Given the description of an element on the screen output the (x, y) to click on. 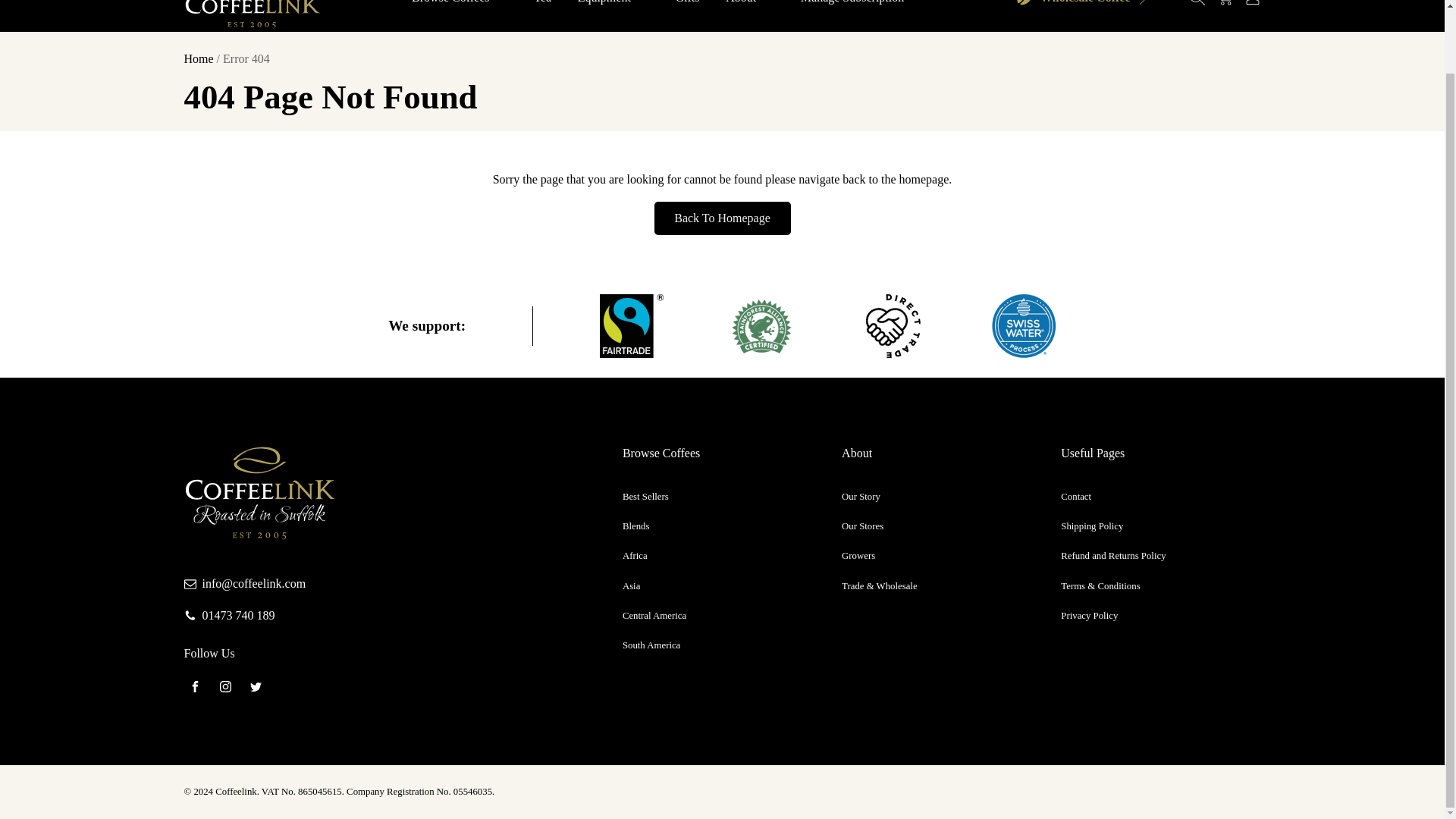
Tea (542, 5)
Manage Subscription (852, 5)
Equipment (613, 5)
Wholesale Coffee (1082, 8)
Gifts (687, 5)
About (750, 5)
Browse Coffees (459, 5)
